Given the description of an element on the screen output the (x, y) to click on. 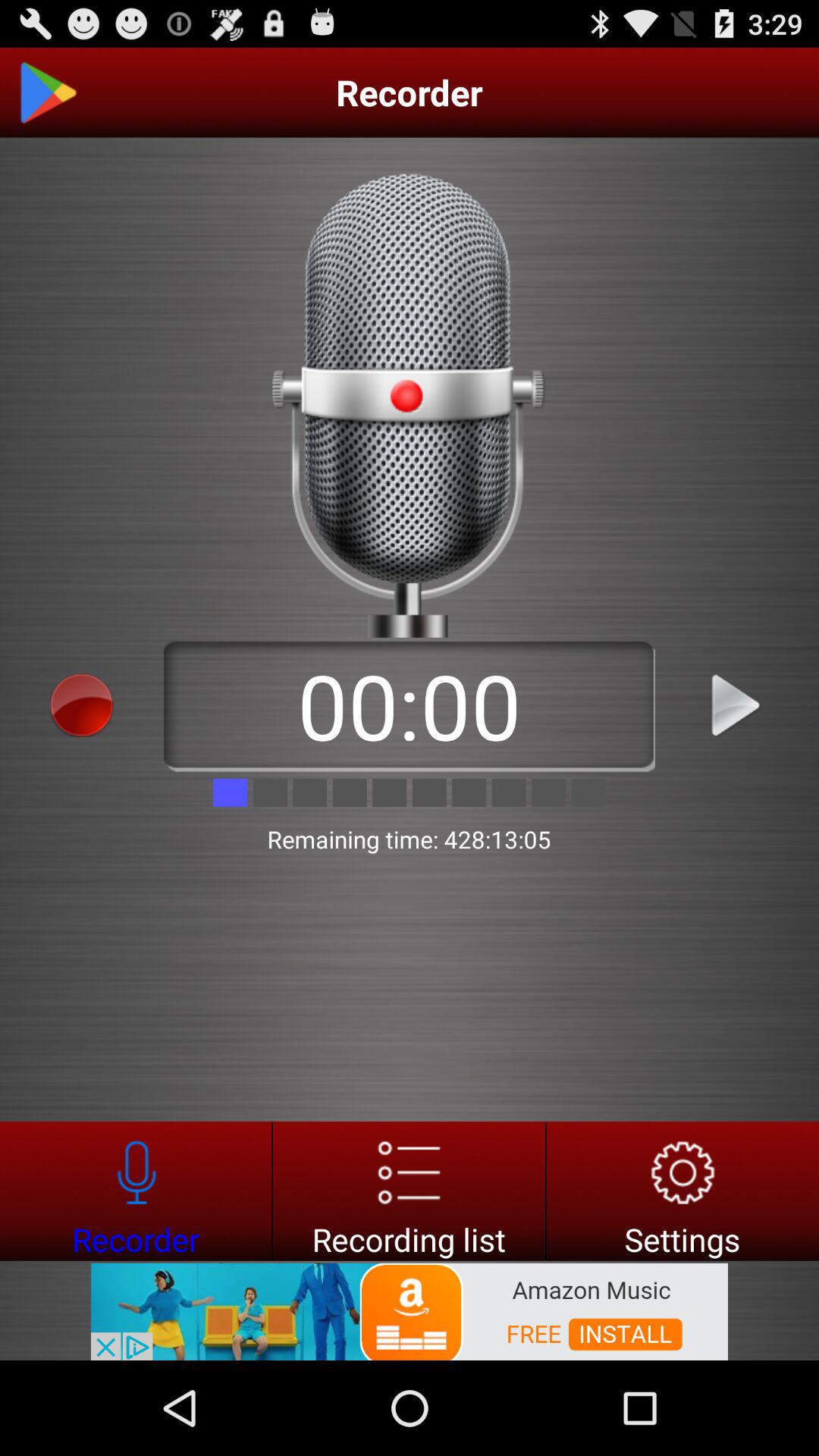
advertisement click (409, 1310)
